Given the description of an element on the screen output the (x, y) to click on. 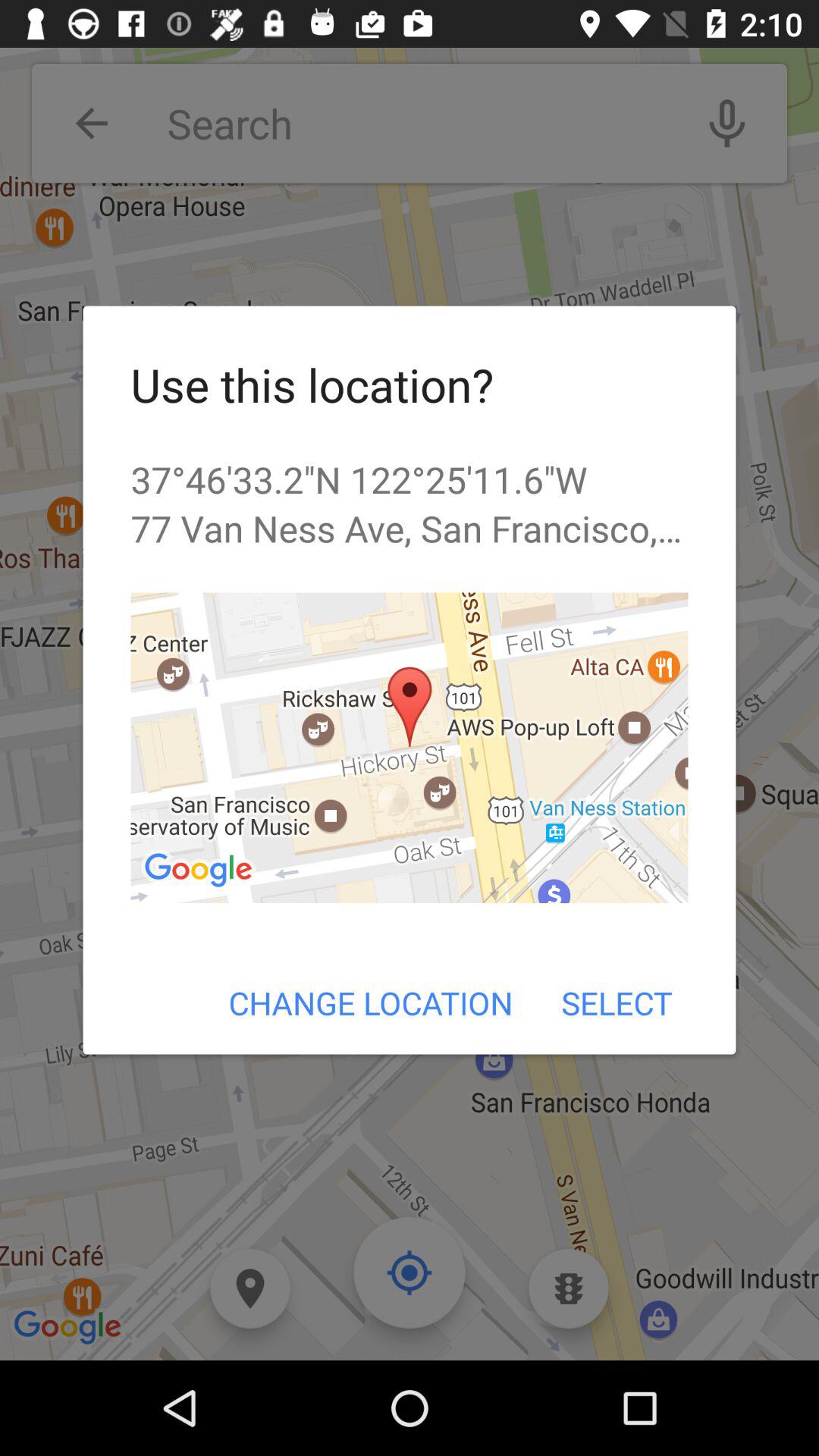
choose the icon to the right of change location (616, 1002)
